Given the description of an element on the screen output the (x, y) to click on. 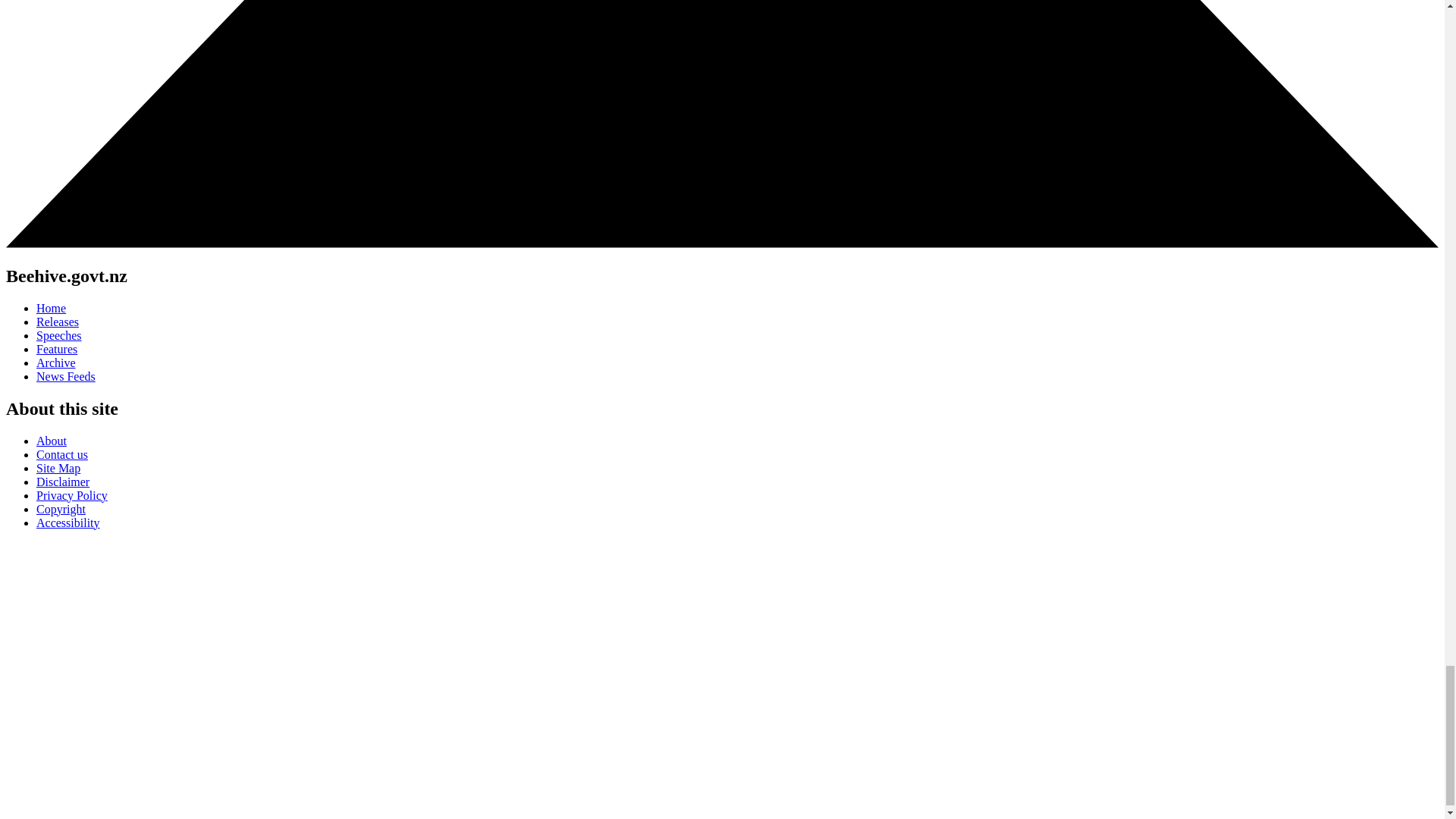
Site Map (58, 468)
Disclaimer (62, 481)
Archive (55, 362)
Speeches (58, 335)
Contact us (61, 454)
Home (50, 308)
Releases (57, 321)
Accessibility (68, 522)
About (51, 440)
News Feeds (66, 376)
Features (56, 349)
Privacy Policy (71, 495)
Copyright (60, 508)
